Given the description of an element on the screen output the (x, y) to click on. 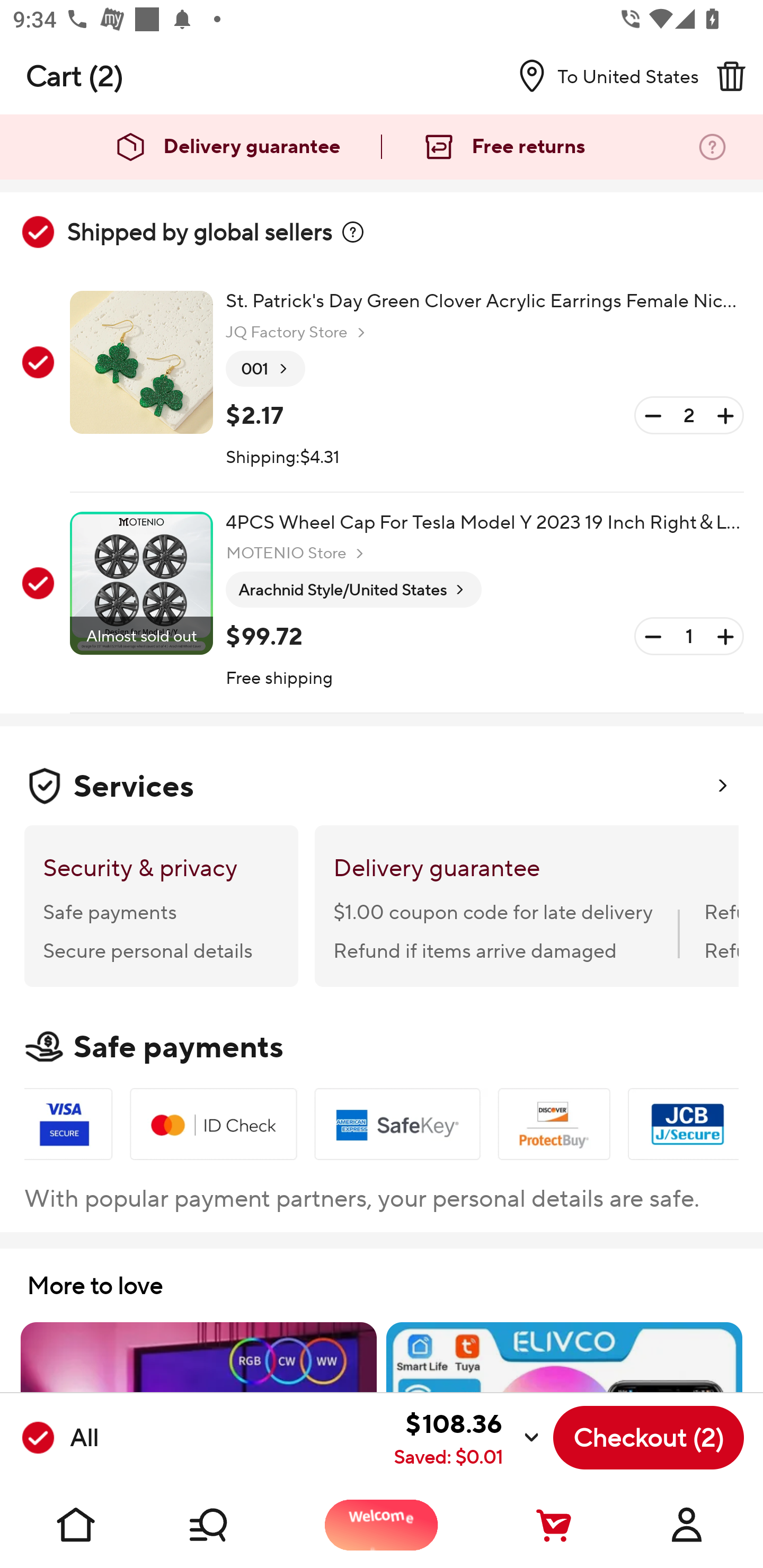
 To United States (601, 75)
 (730, 75)
 (352, 231)
JQ Factory Store (297, 333)
001 (265, 369)
2 (688, 415)
MOTENIO Store (296, 553)
Arachnid Style/United States (353, 590)
1 (688, 636)
$_108.36 Saved: $0.01  (324, 1437)
Checkout (2) (648, 1437)
Home (76, 1524)
Shop (228, 1524)
Account (686, 1524)
